Given the description of an element on the screen output the (x, y) to click on. 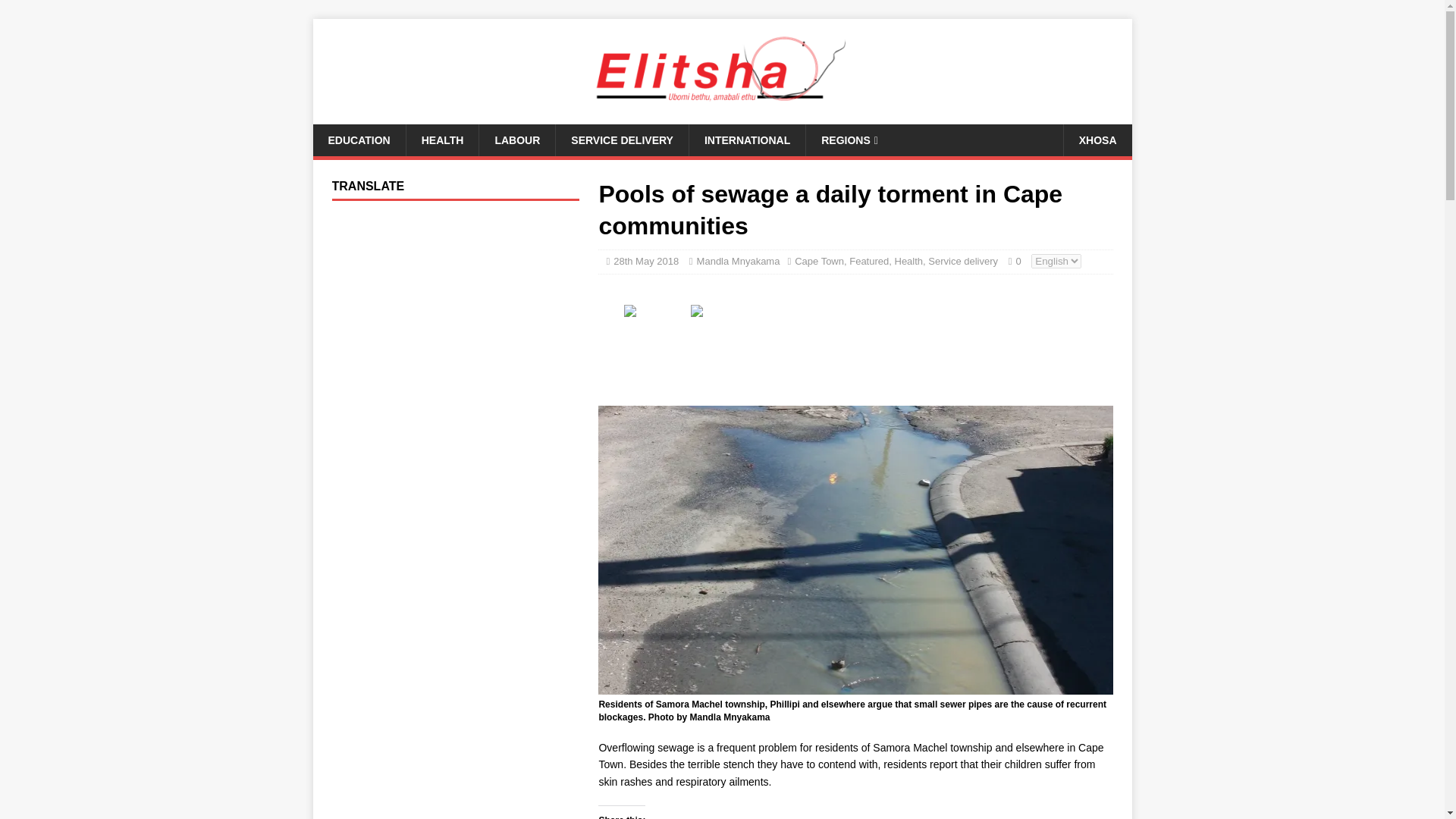
REGIONS (849, 140)
XHOSA (1097, 140)
HEALTH (442, 140)
LABOUR (516, 140)
Health (909, 260)
Service delivery (962, 260)
SERVICE DELIVERY (621, 140)
28th May 2018 (645, 260)
INTERNATIONAL (746, 140)
Cape Town (819, 260)
